Given the description of an element on the screen output the (x, y) to click on. 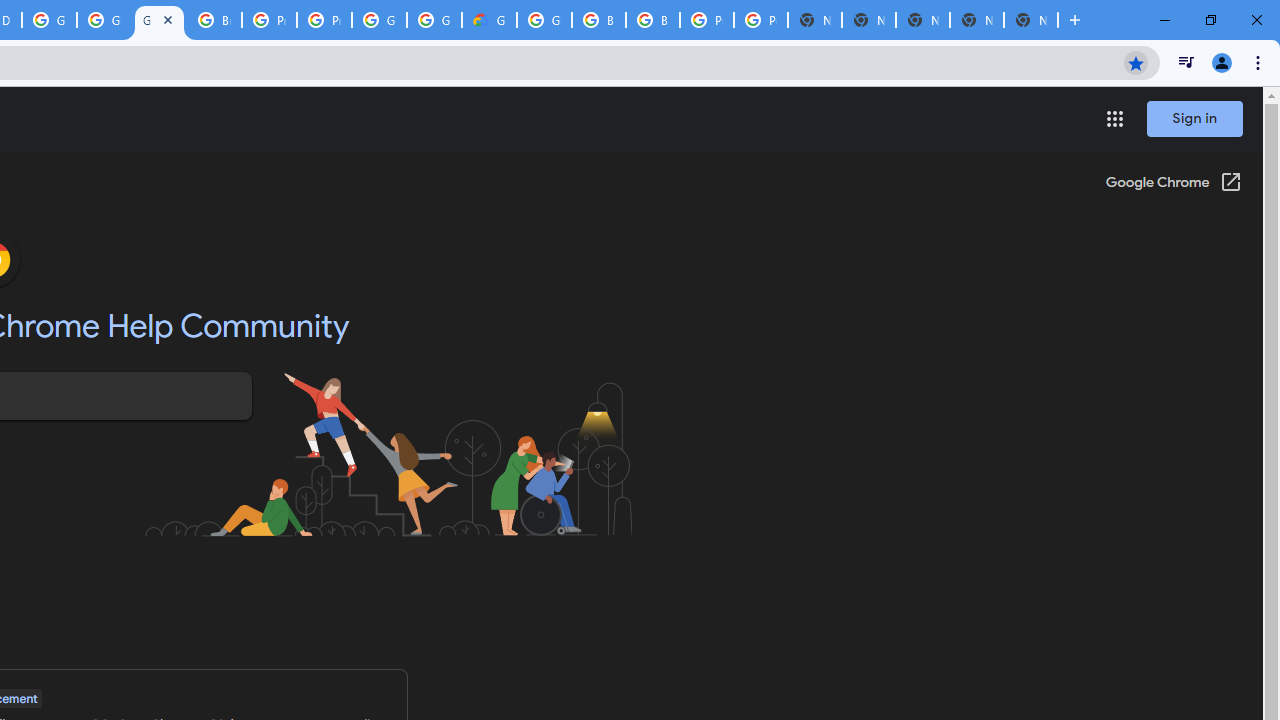
Google Cloud Platform (544, 20)
Google Cloud Platform (379, 20)
Browse Chrome as a guest - Computer - Google Chrome Help (213, 20)
Google Chrome (Open in a new window) (1173, 183)
New Tab (1030, 20)
Browse Chrome as a guest - Computer - Google Chrome Help (598, 20)
Control your music, videos, and more (1185, 62)
